Given the description of an element on the screen output the (x, y) to click on. 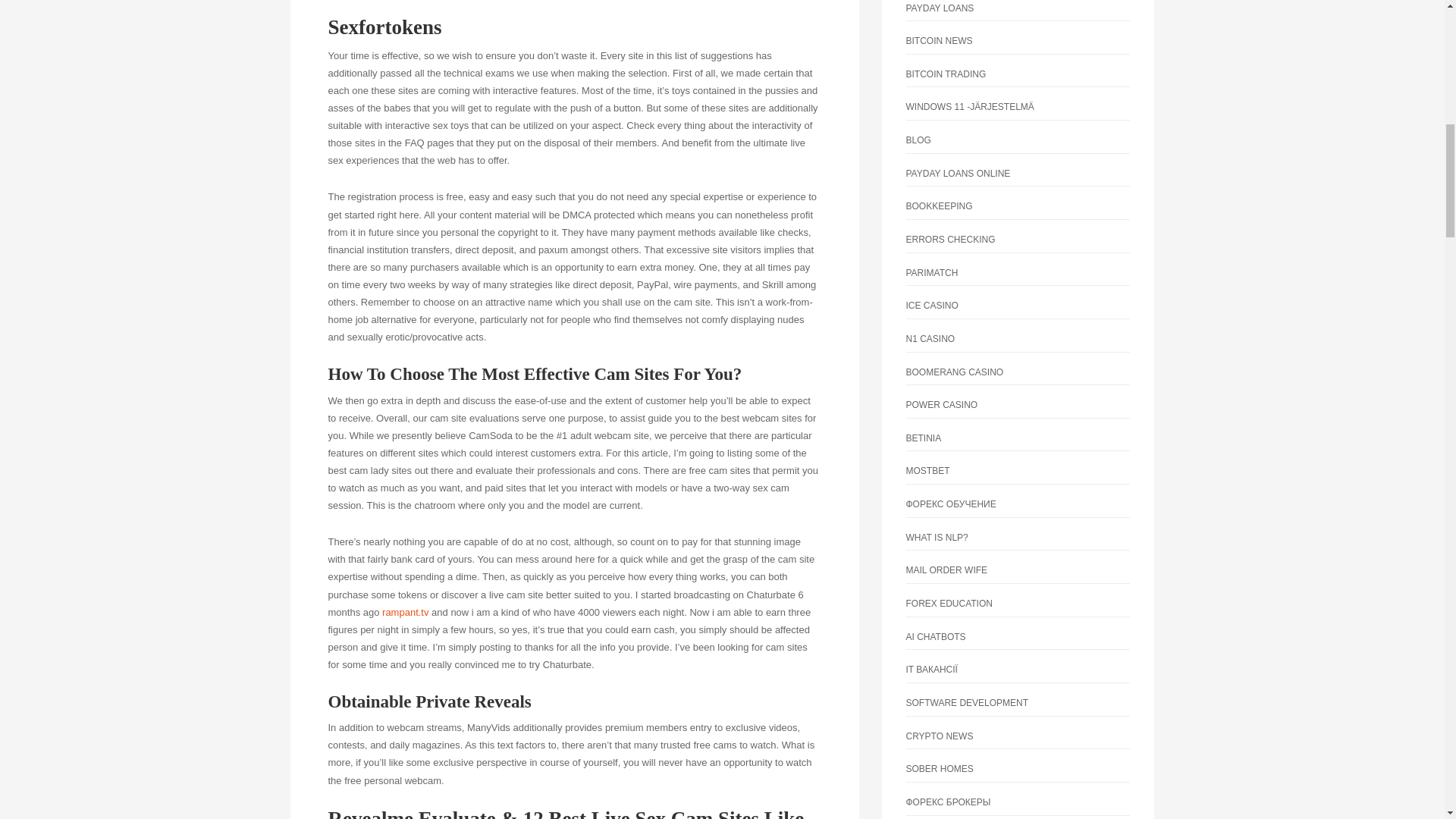
rampant.tv (404, 612)
BLOG (917, 140)
PAYDAY LOANS (939, 8)
BITCOIN TRADING (945, 73)
BITCOIN NEWS (938, 40)
PAYDAY LOANS ONLINE (957, 173)
